Given the description of an element on the screen output the (x, y) to click on. 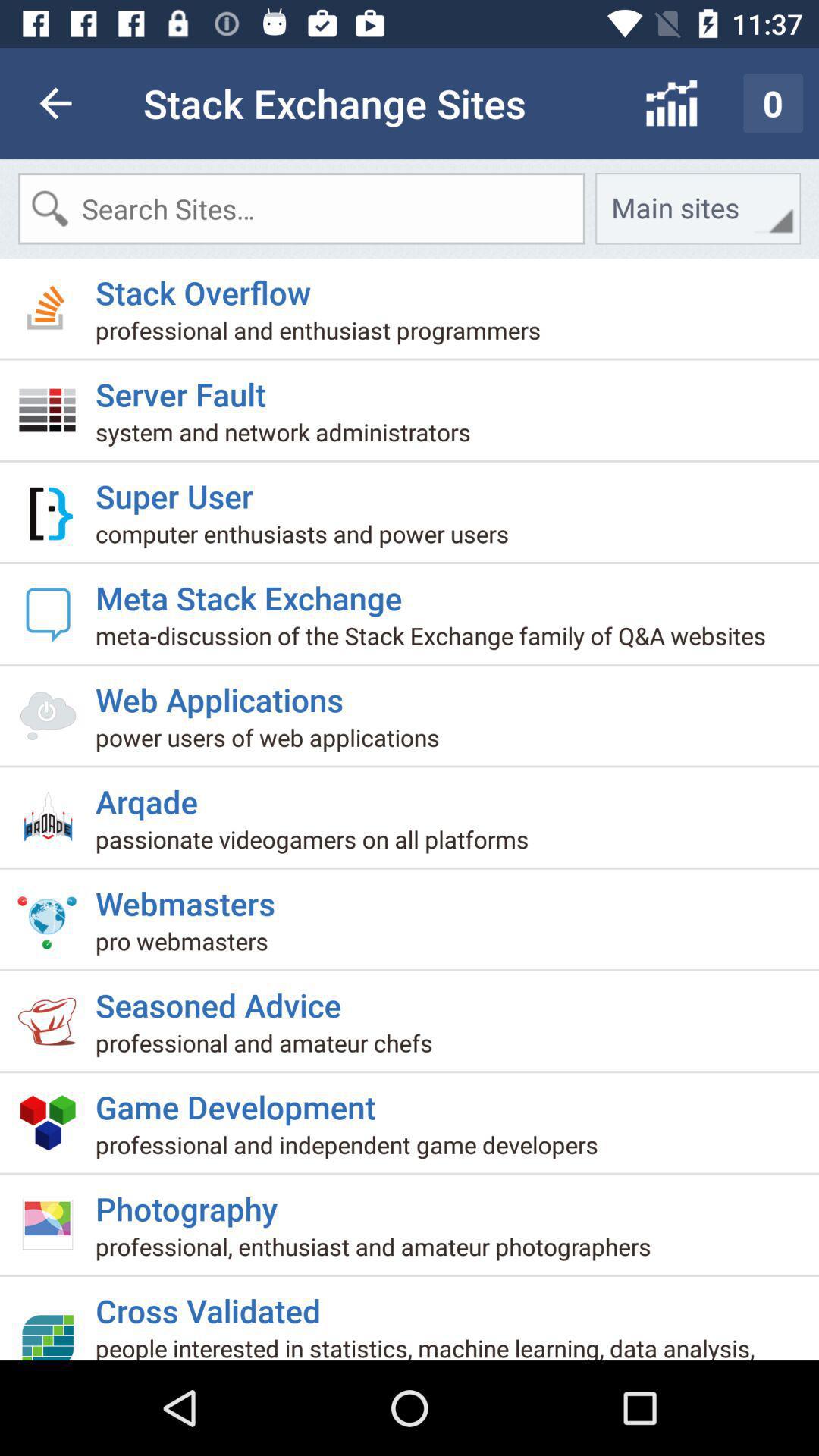
write something to search for it (301, 208)
